Given the description of an element on the screen output the (x, y) to click on. 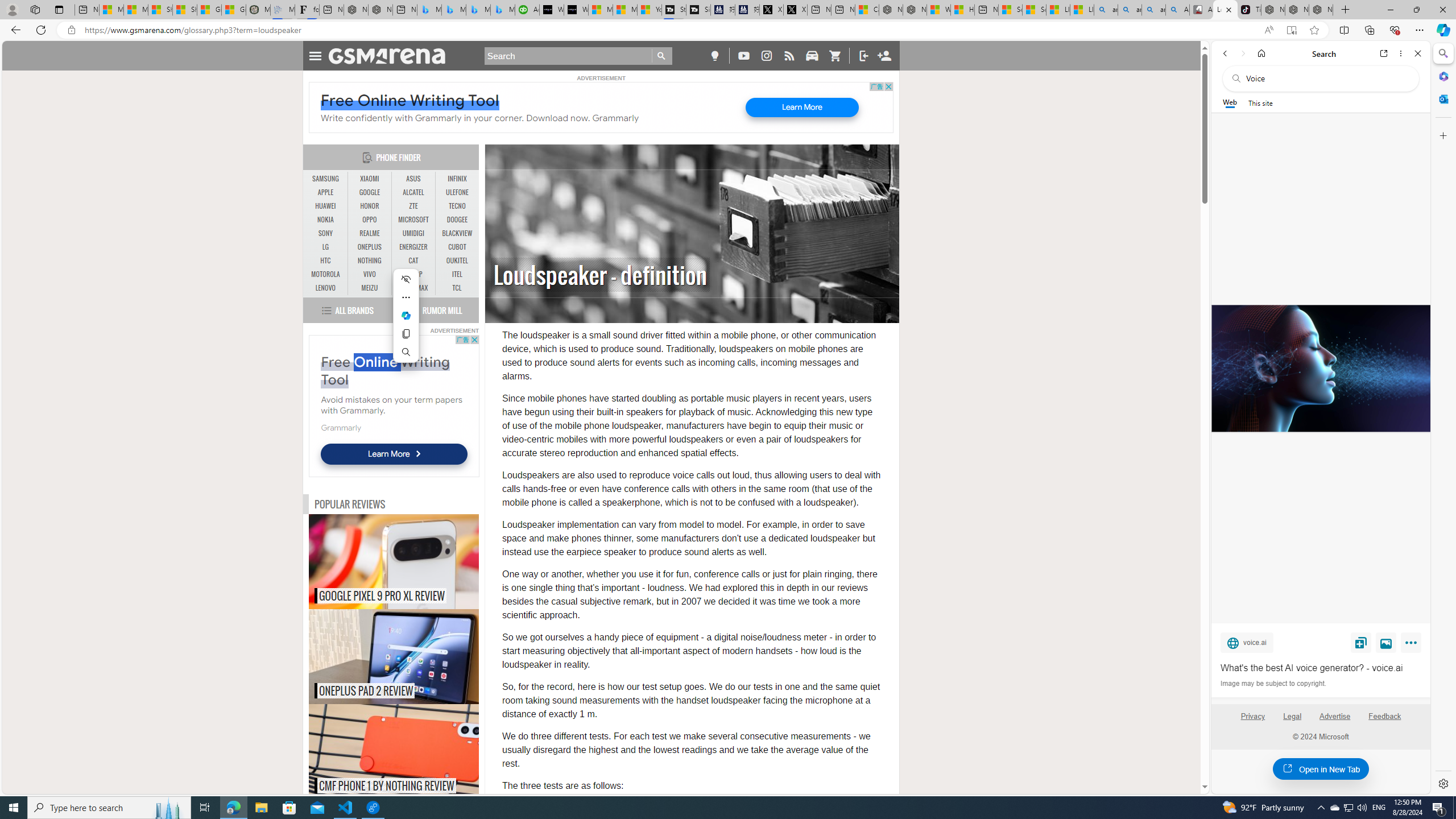
ZTE (413, 206)
XIAOMI (369, 178)
Outlook (1442, 98)
SHARP (413, 273)
DOOGEE (457, 219)
Go (662, 55)
SAMSUNG (325, 178)
Web scope (1230, 102)
CUBOT (457, 246)
DOOGEE (457, 219)
AutomationID: anchor (391, 55)
